Given the description of an element on the screen output the (x, y) to click on. 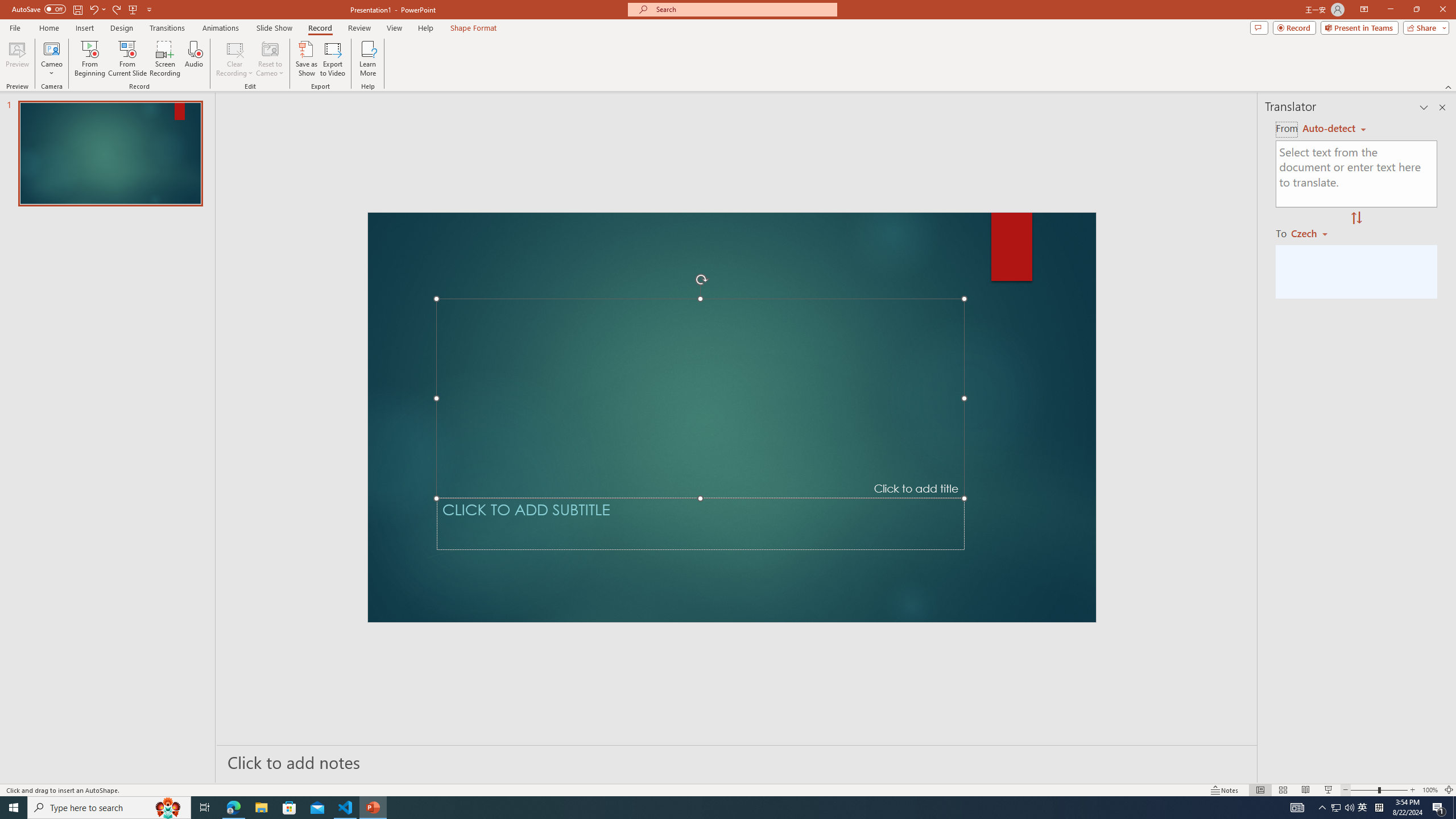
Design (122, 28)
Transitions (167, 28)
From Beginning... (89, 58)
Export to Video (332, 58)
Microsoft search (742, 9)
Audio (193, 58)
Animations (220, 28)
Quick Access Toolbar (82, 9)
Class: MsoCommandBar (728, 789)
Clear Recording (234, 58)
Save as Show (306, 58)
